Given the description of an element on the screen output the (x, y) to click on. 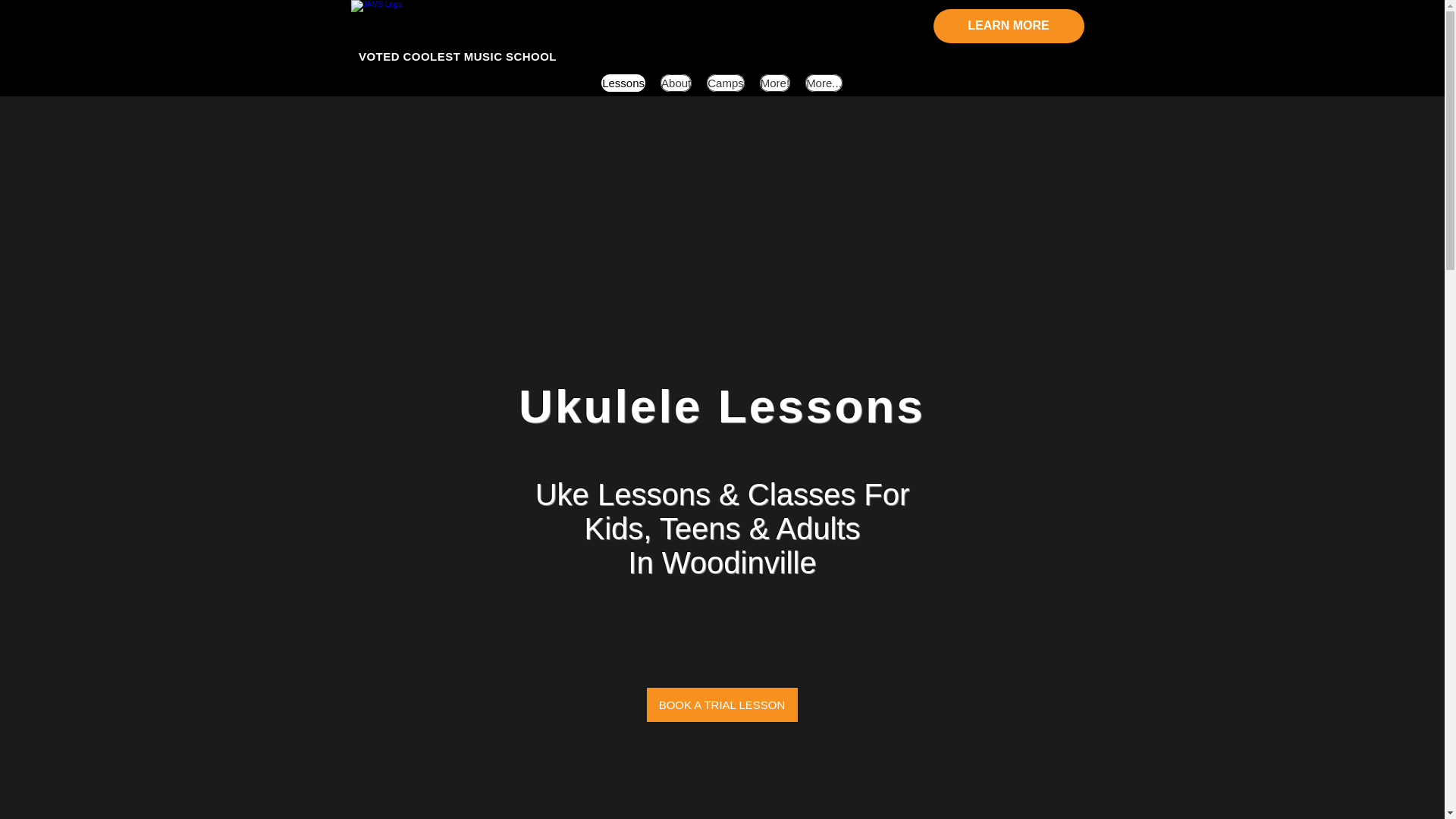
Spotlight is becoming Jam Academy Music School! (461, 29)
BOOK A TRIAL LESSON (721, 704)
Lessons (623, 83)
LEARN MORE (1008, 26)
About (676, 83)
Camps (725, 83)
More! (775, 83)
